Given the description of an element on the screen output the (x, y) to click on. 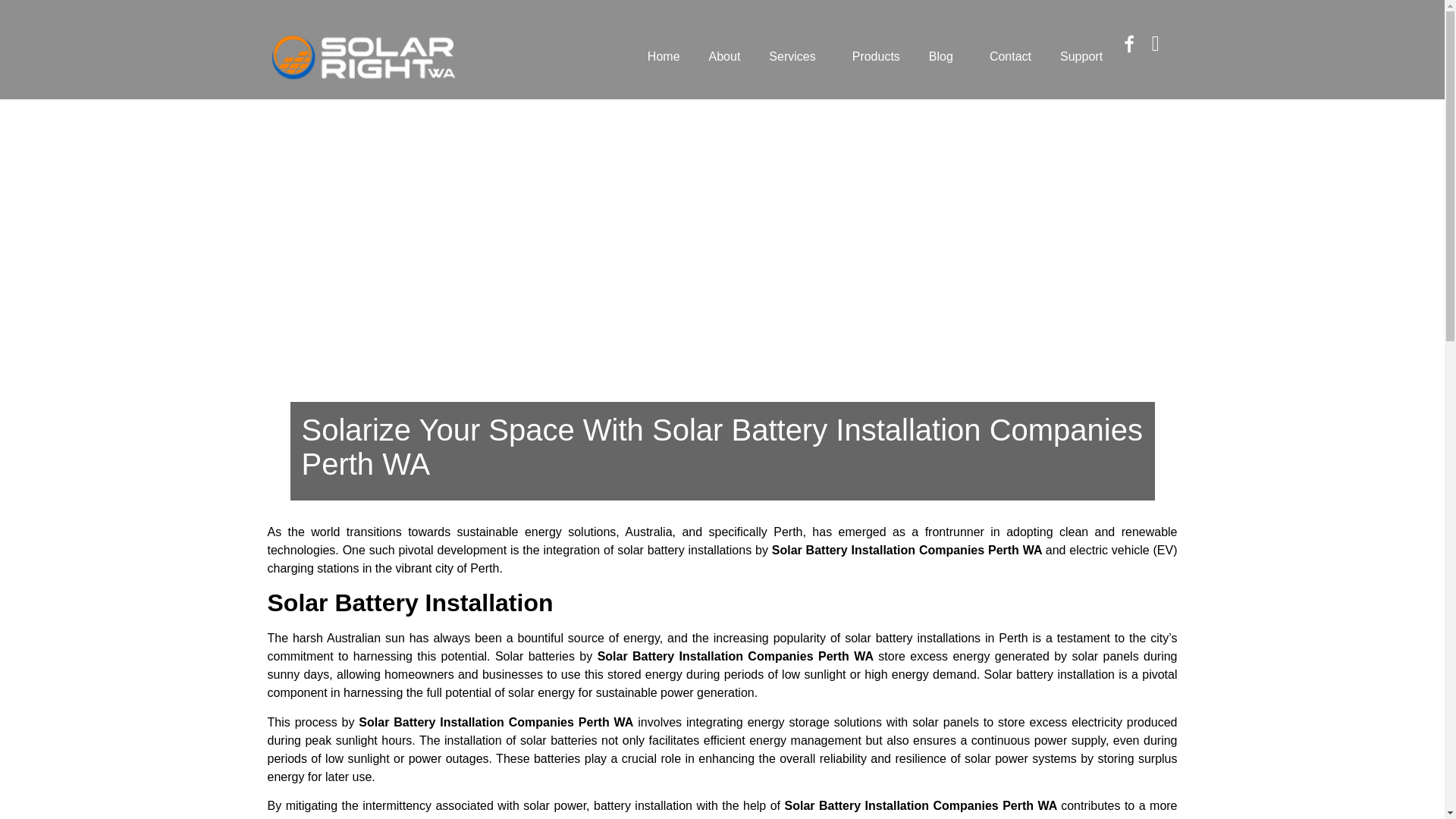
Blog (944, 56)
About (724, 56)
Contact (1010, 56)
Services (795, 56)
Home (663, 56)
Support (1080, 56)
Products (876, 56)
